Given the description of an element on the screen output the (x, y) to click on. 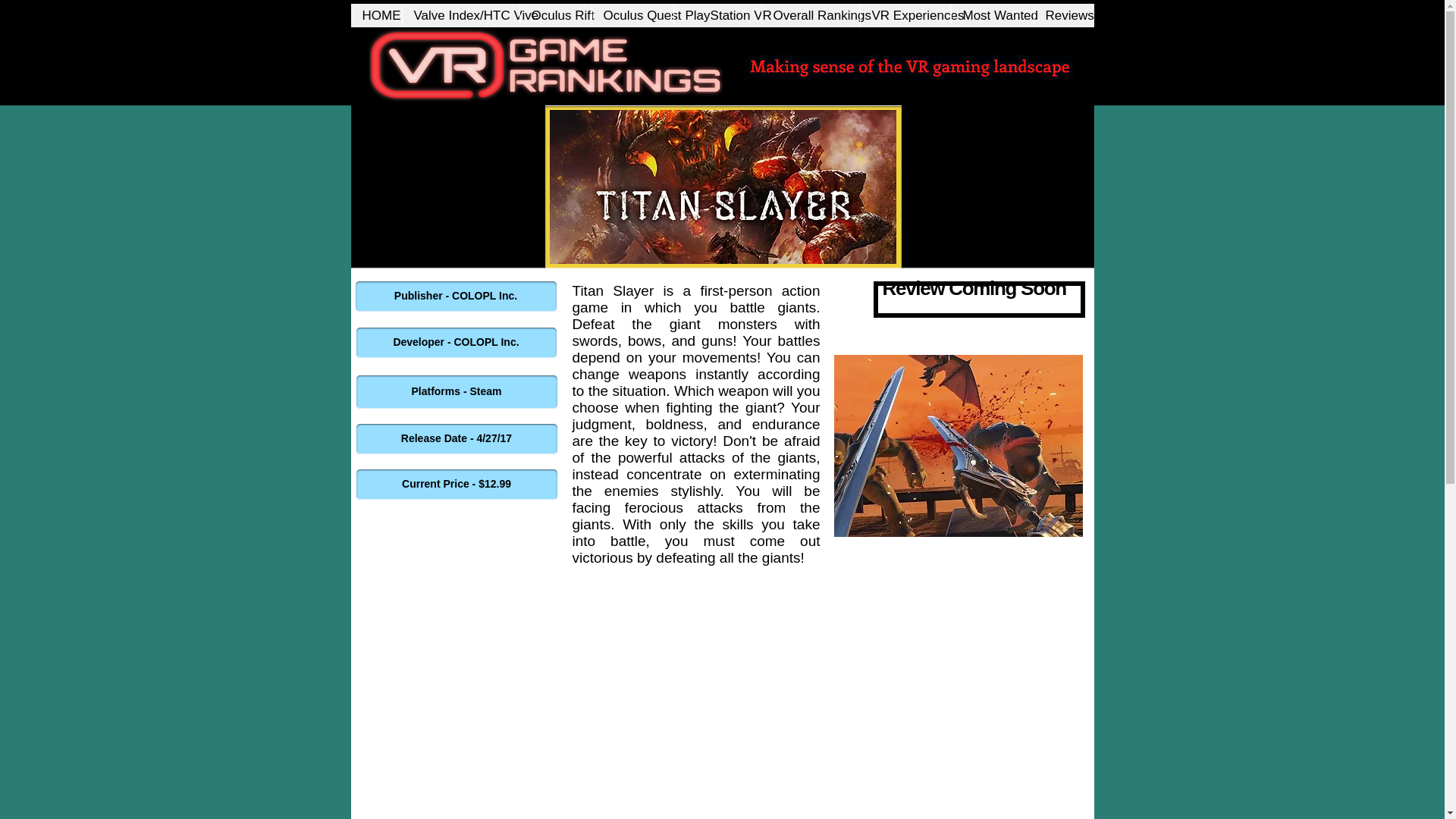
Overall Rankings (810, 15)
Oculus Rift (554, 15)
Oculus Quest (631, 15)
HOME (375, 15)
External YouTube (718, 707)
PlayStation VR (716, 15)
